Given the description of an element on the screen output the (x, y) to click on. 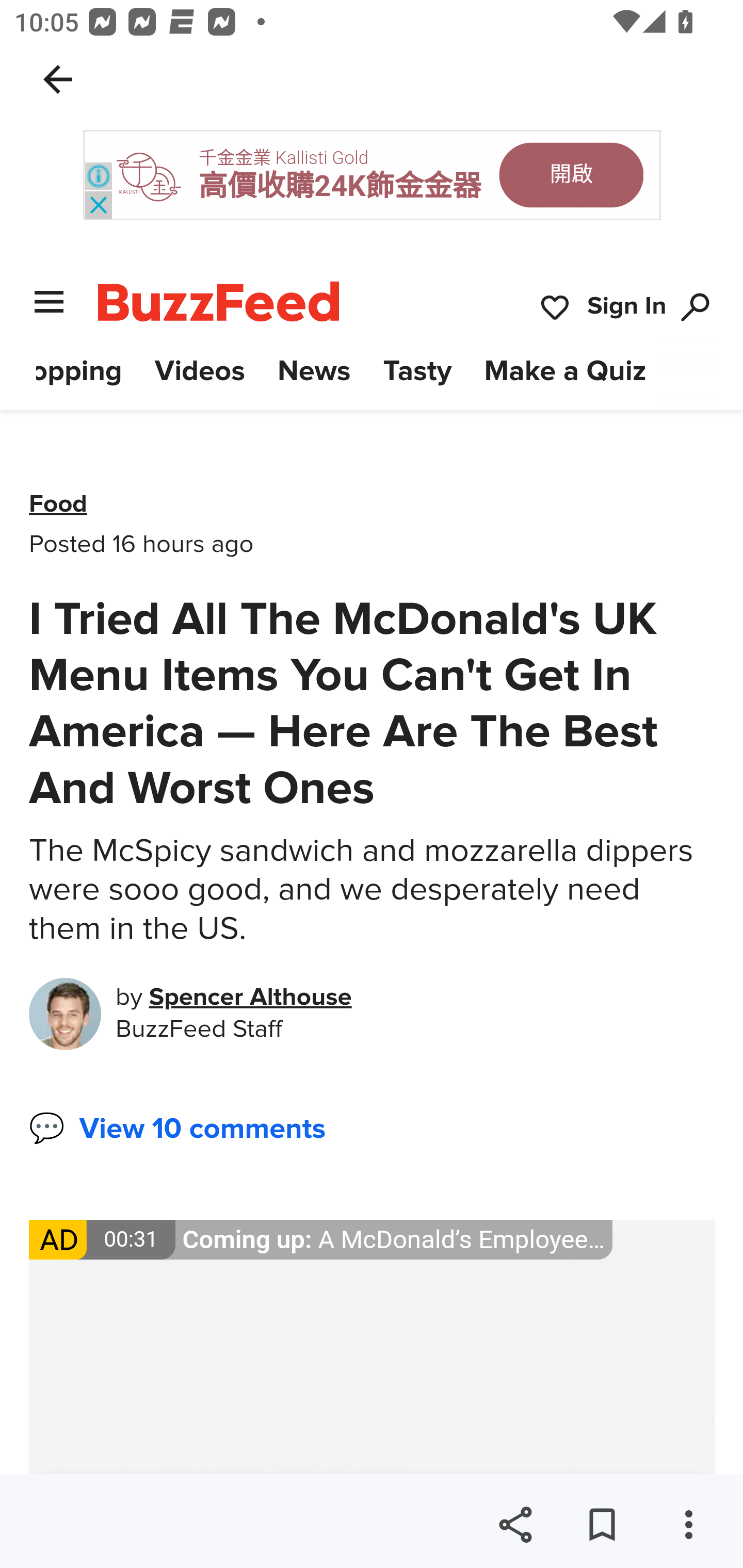
Navigate up (57, 79)
開啟 (571, 174)
千金金業 Kallisti Gold (284, 157)
高價收購24K飾金金器 (340, 185)
open menu to see more links (49, 301)
BuzzFeed Homepage (219, 301)
my wishlist (555, 307)
Sign In (626, 307)
Search BuzzFeed (695, 308)
Shopping (79, 371)
Videos (199, 371)
News (314, 371)
Tasty (417, 371)
Make a Quiz (565, 371)
Food (58, 504)
💬View 10 comments (177, 1128)
Advertisement link (372, 1346)
Share (514, 1524)
Save for later (601, 1524)
More options (688, 1524)
